Given the description of an element on the screen output the (x, y) to click on. 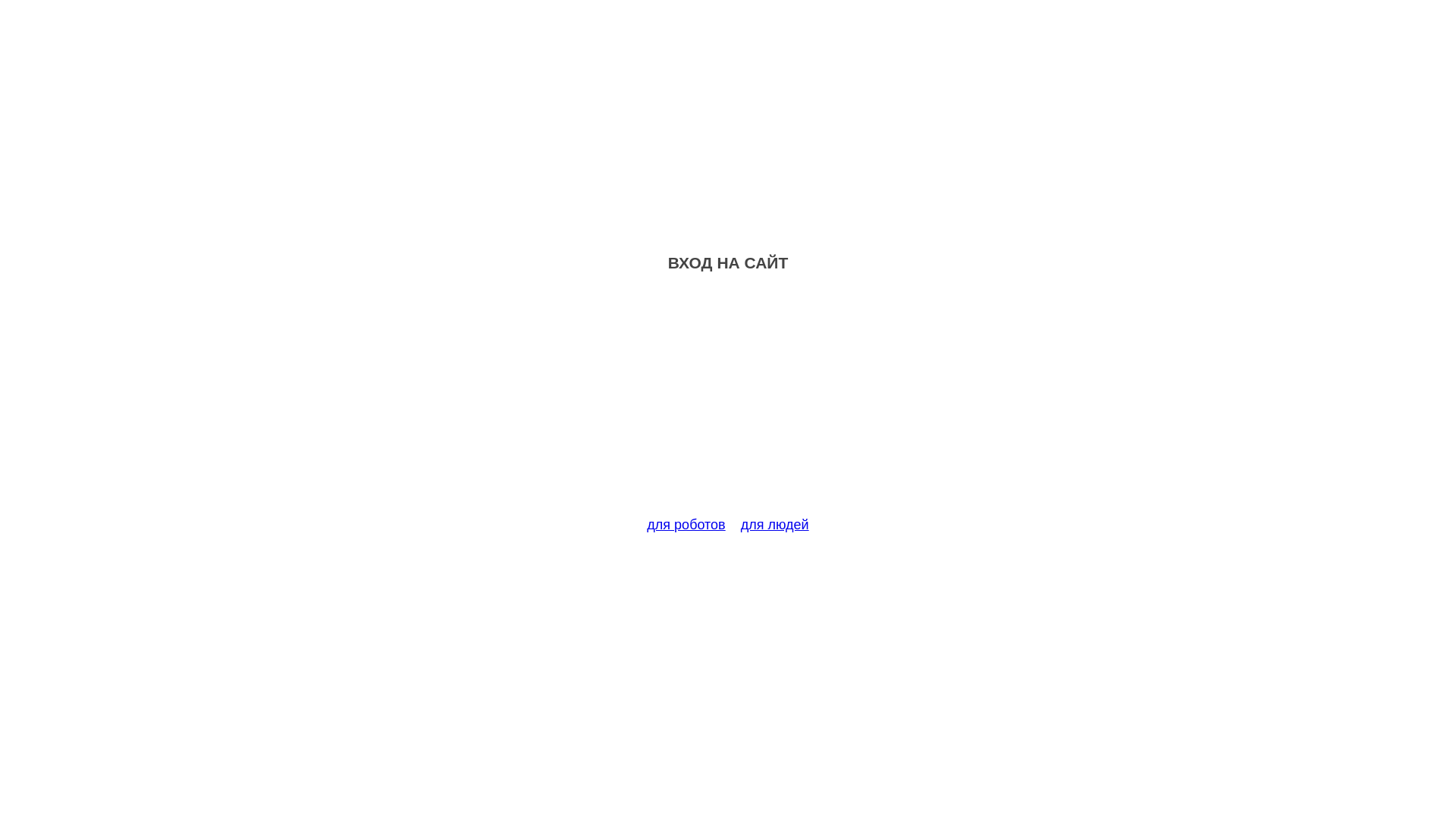
Advertisement Element type: hover (727, 403)
